Given the description of an element on the screen output the (x, y) to click on. 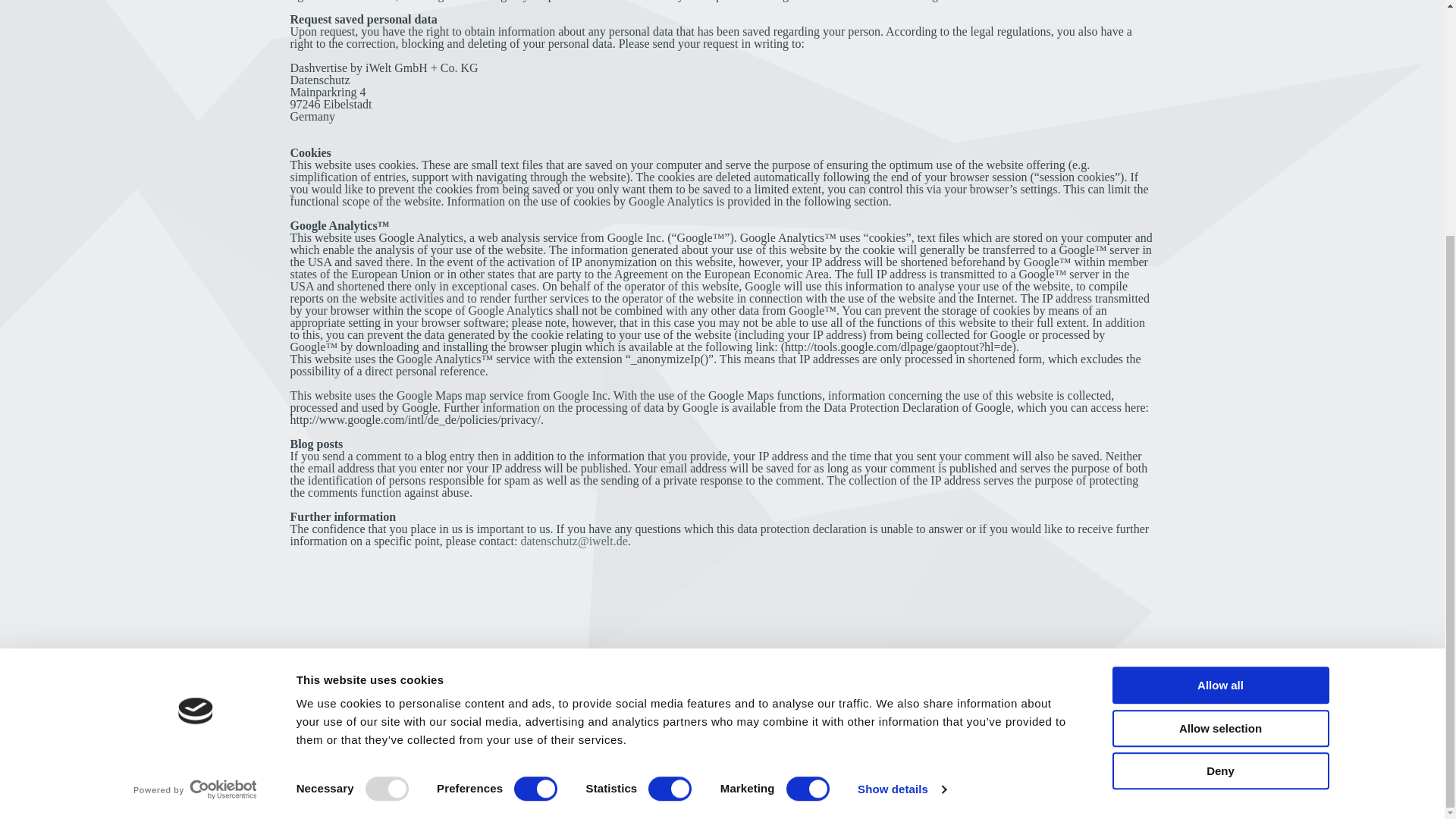
Deny (1219, 448)
Allow all (1219, 363)
English (987, 782)
Legal Notice (982, 728)
Allow selection (1219, 406)
Show details (900, 467)
Privacy Policy (986, 746)
